Given the description of an element on the screen output the (x, y) to click on. 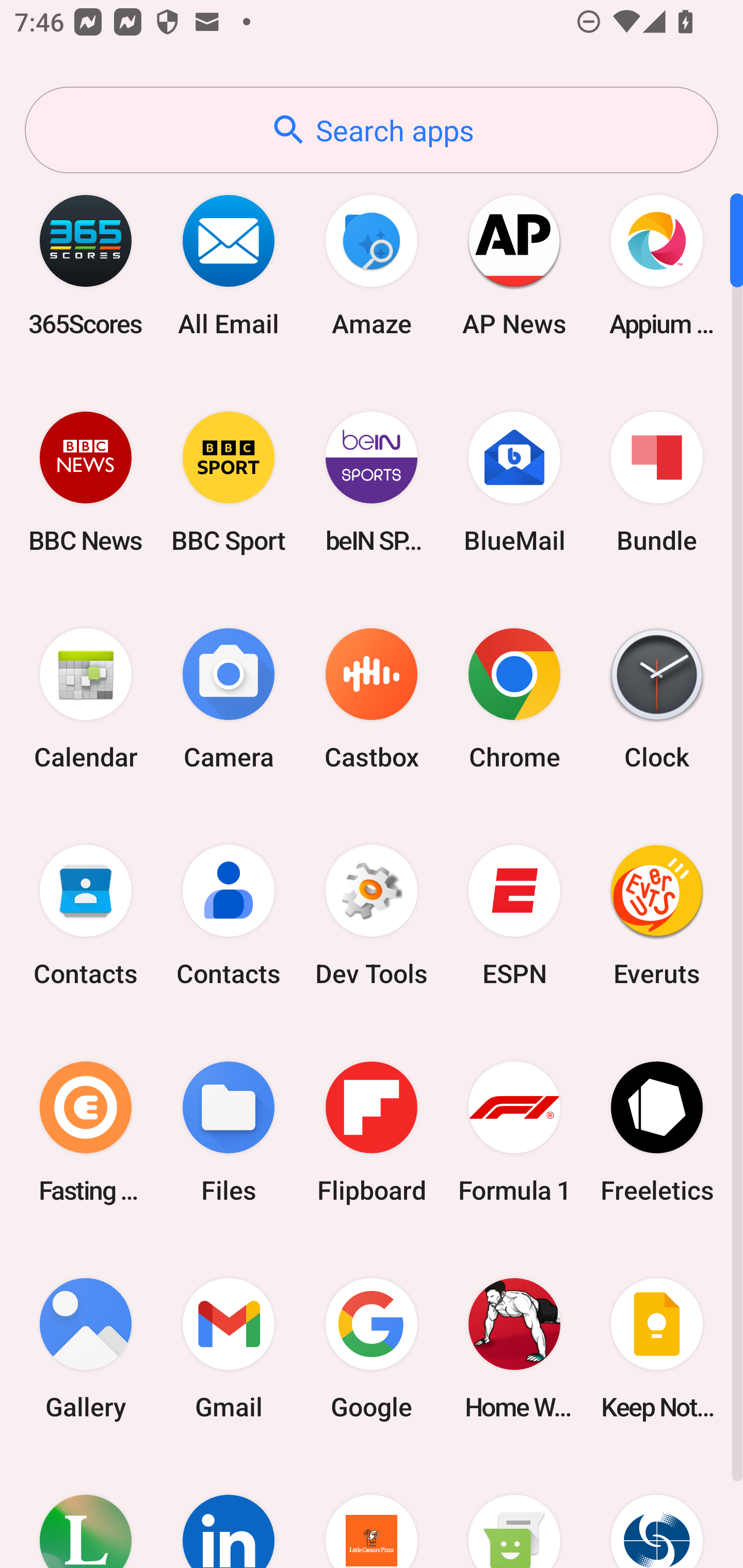
  Search apps (371, 130)
365Scores (85, 264)
All Email (228, 264)
Amaze (371, 264)
AP News (514, 264)
Appium Settings (656, 264)
BBC News (85, 482)
BBC Sport (228, 482)
beIN SPORTS (371, 482)
BlueMail (514, 482)
Bundle (656, 482)
Calendar (85, 699)
Camera (228, 699)
Castbox (371, 699)
Chrome (514, 699)
Clock (656, 699)
Contacts (85, 915)
Contacts (228, 915)
Dev Tools (371, 915)
ESPN (514, 915)
Everuts (656, 915)
Fasting Coach (85, 1131)
Files (228, 1131)
Flipboard (371, 1131)
Formula 1 (514, 1131)
Freeletics (656, 1131)
Gallery (85, 1348)
Gmail (228, 1348)
Google (371, 1348)
Home Workout (514, 1348)
Keep Notes (656, 1348)
